Given the description of an element on the screen output the (x, y) to click on. 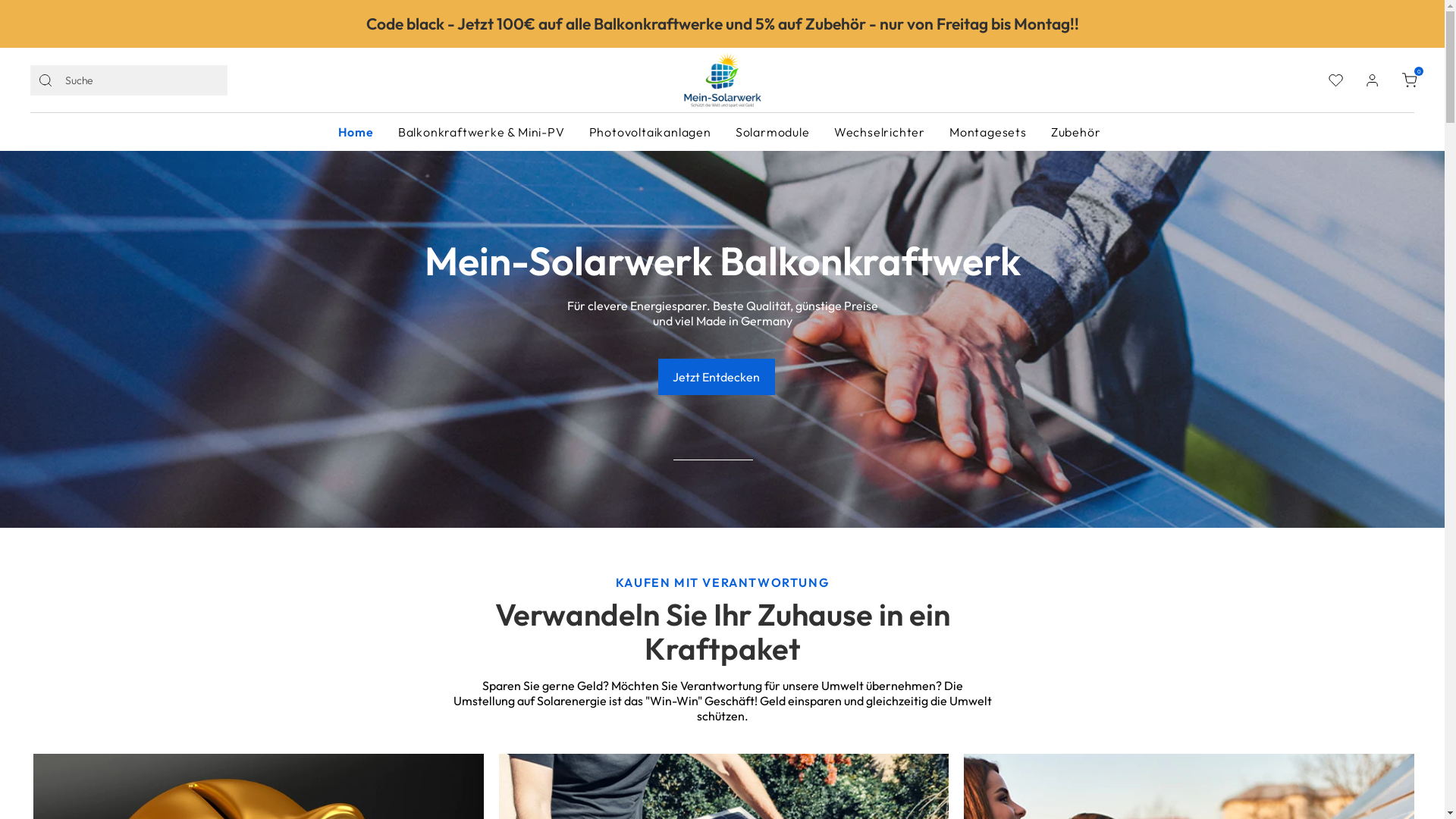
0 Element type: text (1409, 80)
Balkonkraftwerke & Mini-PV Element type: text (481, 131)
Jetzt Entdecken Element type: text (716, 376)
Solarmodule Element type: text (772, 131)
Montagesets Element type: text (987, 131)
Photovoltaikanlagen Element type: text (650, 131)
Home Element type: text (355, 131)
Wechselrichter Element type: text (879, 131)
